Given the description of an element on the screen output the (x, y) to click on. 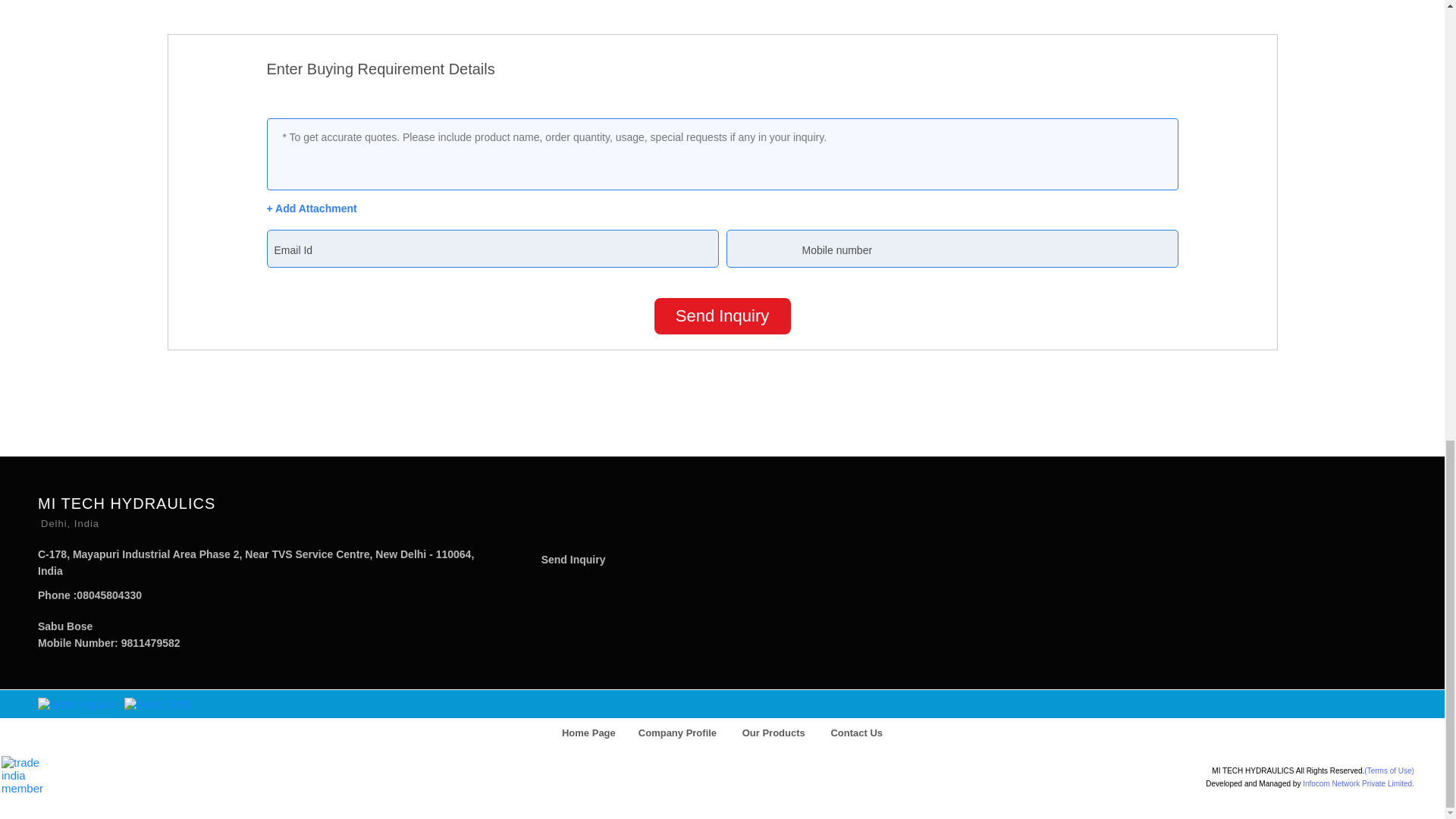
Send Inquiry (573, 559)
Send Inquiry (721, 316)
Home Page (588, 732)
